Given the description of an element on the screen output the (x, y) to click on. 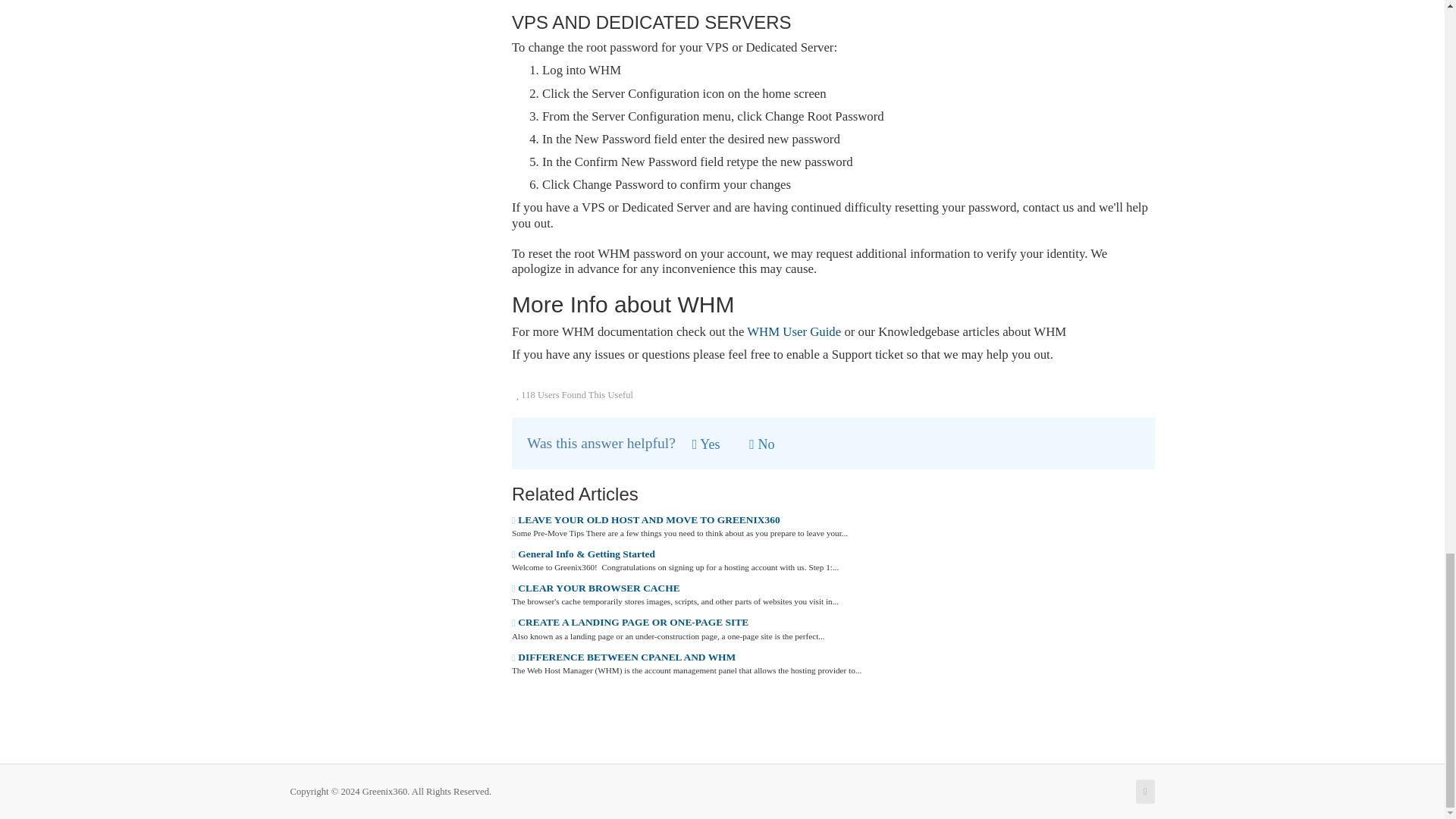
WHM User Guide (793, 331)
LEAVE YOUR OLD HOST AND MOVE TO GREENIX360 (646, 519)
Yes (706, 444)
No (761, 444)
CLEAR YOUR BROWSER CACHE (595, 587)
